Given the description of an element on the screen output the (x, y) to click on. 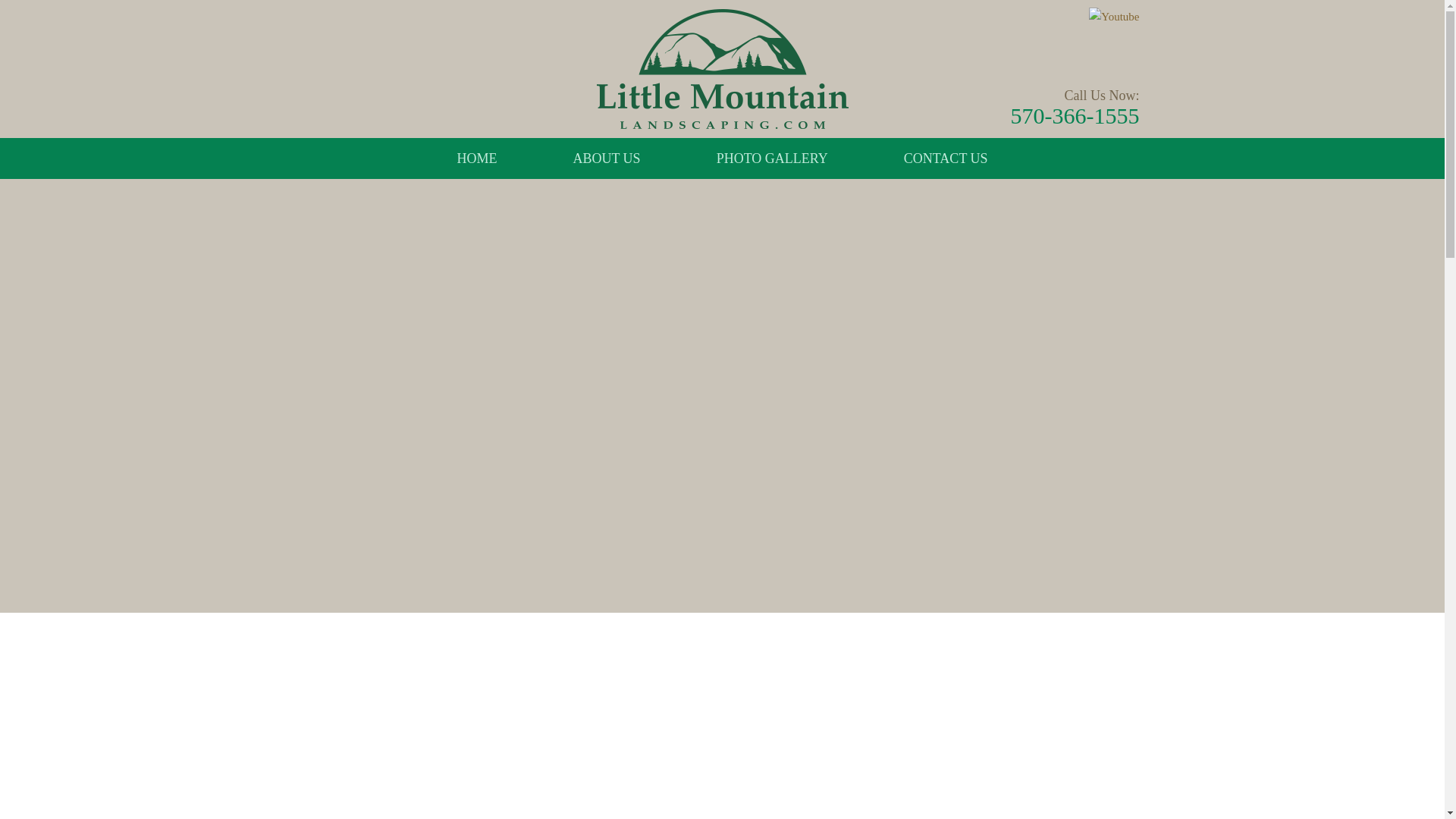
Youtube (1113, 16)
ABOUT US (605, 158)
HOME (492, 158)
Little Mountain Landscaping (721, 68)
PHOTO GALLERY (772, 158)
CONTACT US (930, 158)
